Given the description of an element on the screen output the (x, y) to click on. 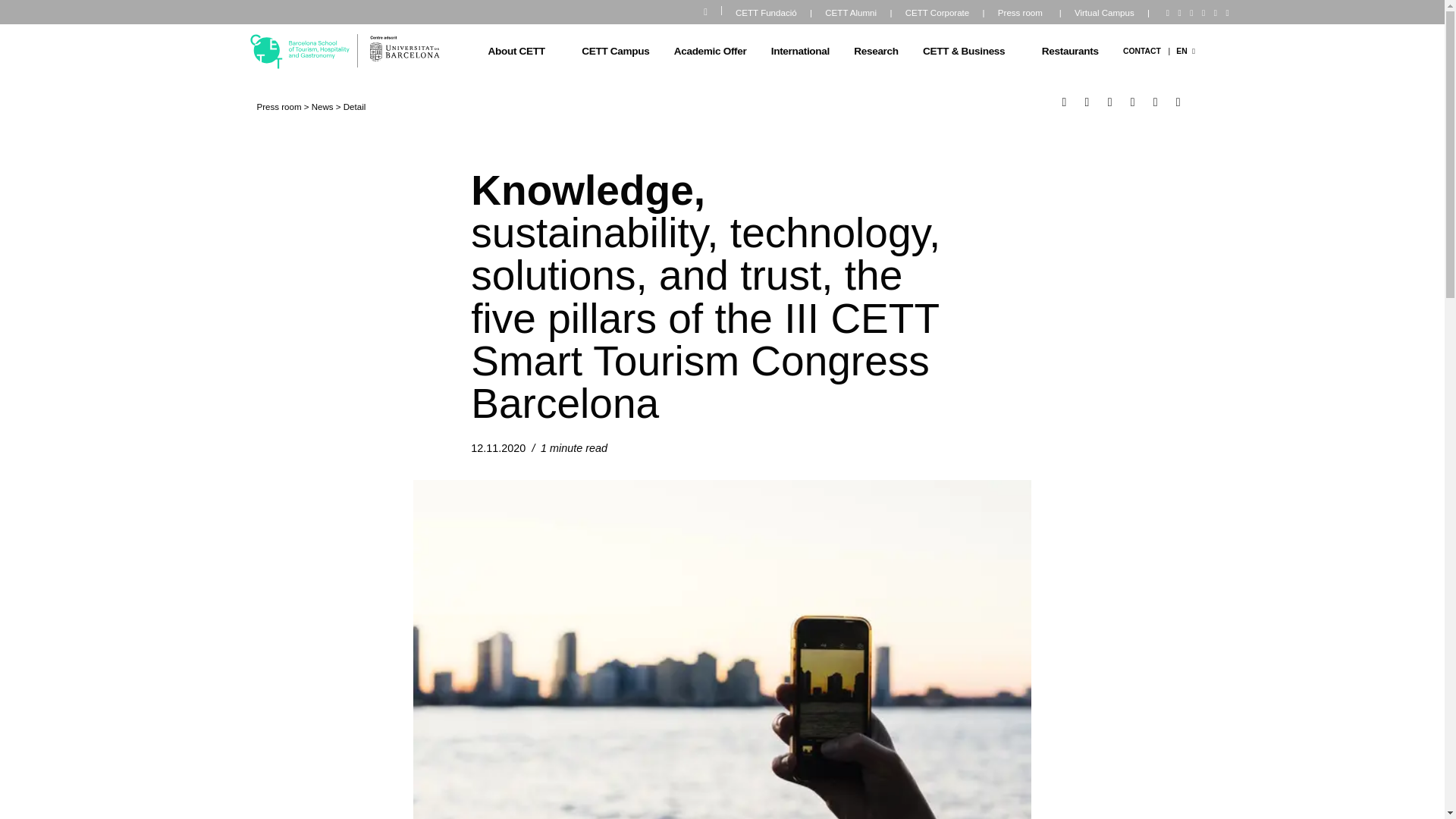
Academic Offer (710, 51)
Virtual Campus (1104, 13)
About CETT (528, 51)
Search (712, 9)
CETT Alumni (850, 13)
Press room (1021, 13)
Universidad de Barcelona (404, 49)
CETT Corporate (936, 13)
Grup CETT (299, 51)
